Given the description of an element on the screen output the (x, y) to click on. 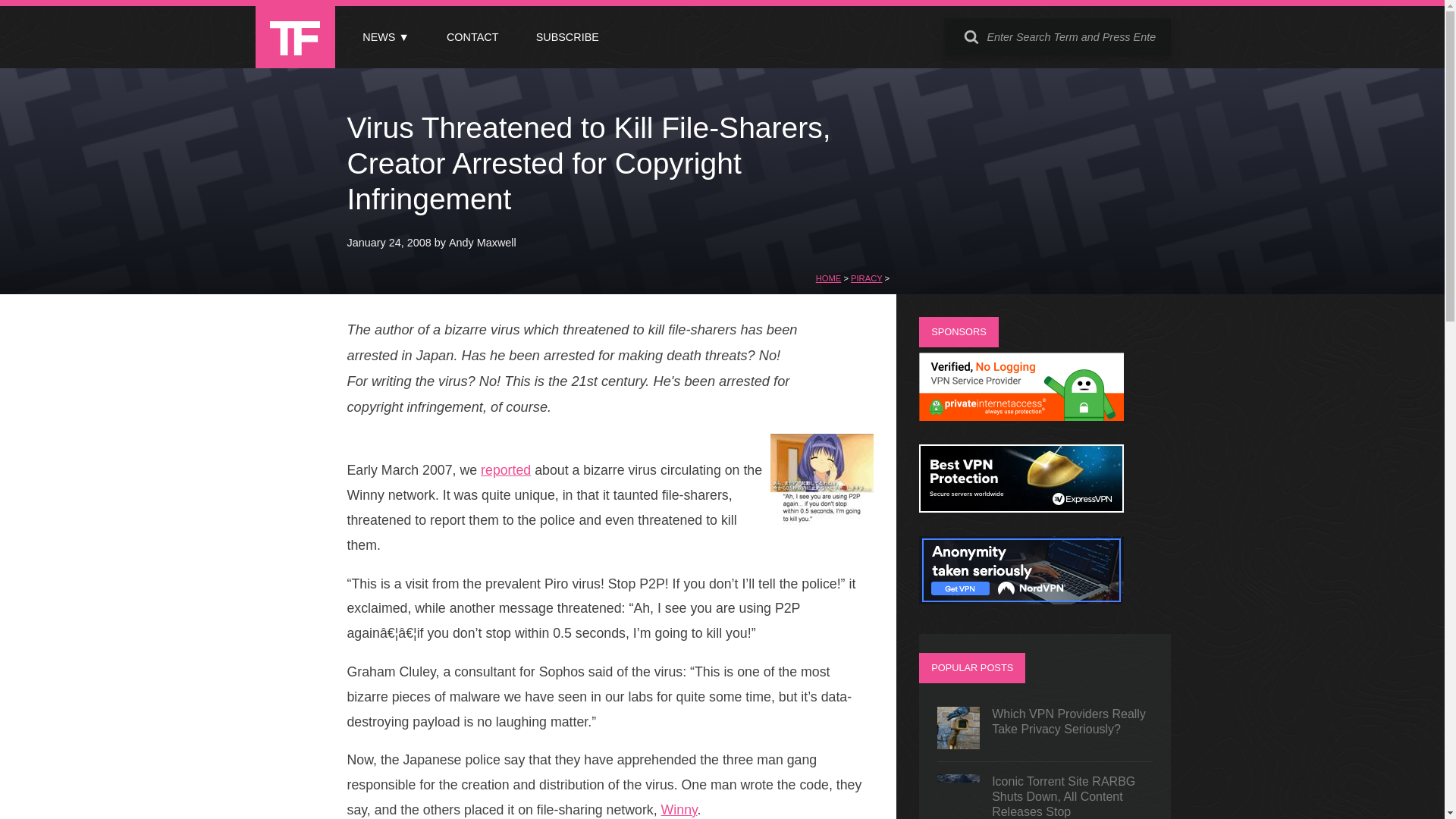
ExpressVPN (1021, 508)
Andy Maxwell (482, 242)
Winny (679, 809)
SUBSCRIBE (566, 37)
Private Internet Access (1021, 416)
HOME (828, 277)
Which VPN Providers Really Take Privacy Seriously? (1045, 727)
PIRACY (866, 277)
if you don't stop within 0.5 seconds, i'm going to kill you! (821, 479)
